Given the description of an element on the screen output the (x, y) to click on. 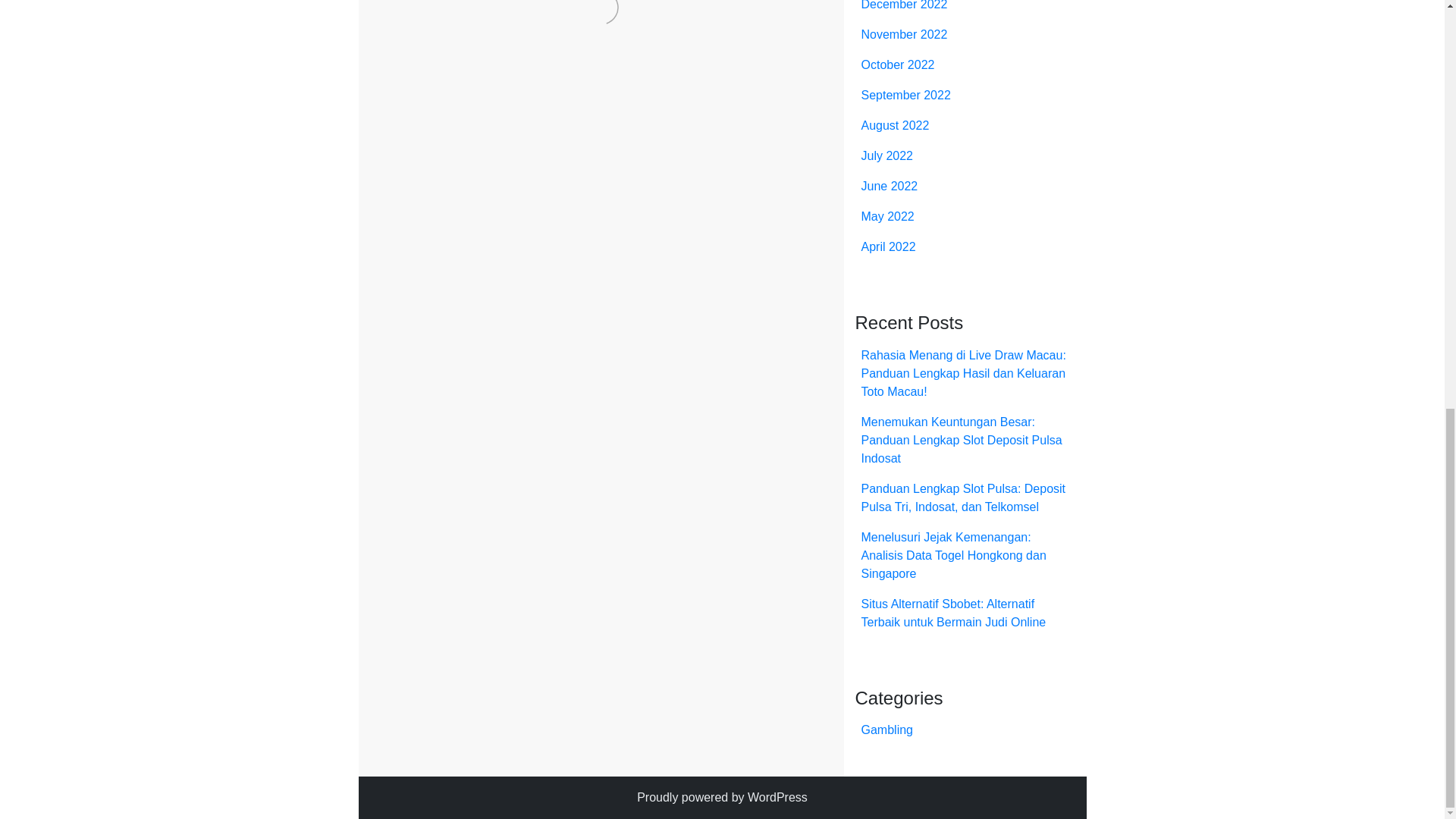
data pengeluaran sgp (574, 338)
keluaran sgp hari ini (528, 356)
toto sgp (641, 429)
keluaran sgp hari ini live tercepat (678, 356)
data keluaran sgp (460, 338)
pengeluaran sgp hr ini (429, 392)
pengeluaran sgp 49 (449, 374)
pengeluaran sgp hari ini tercepat (734, 374)
data sgp sahabat (778, 338)
togel singapore 49 (491, 410)
